Given the description of an element on the screen output the (x, y) to click on. 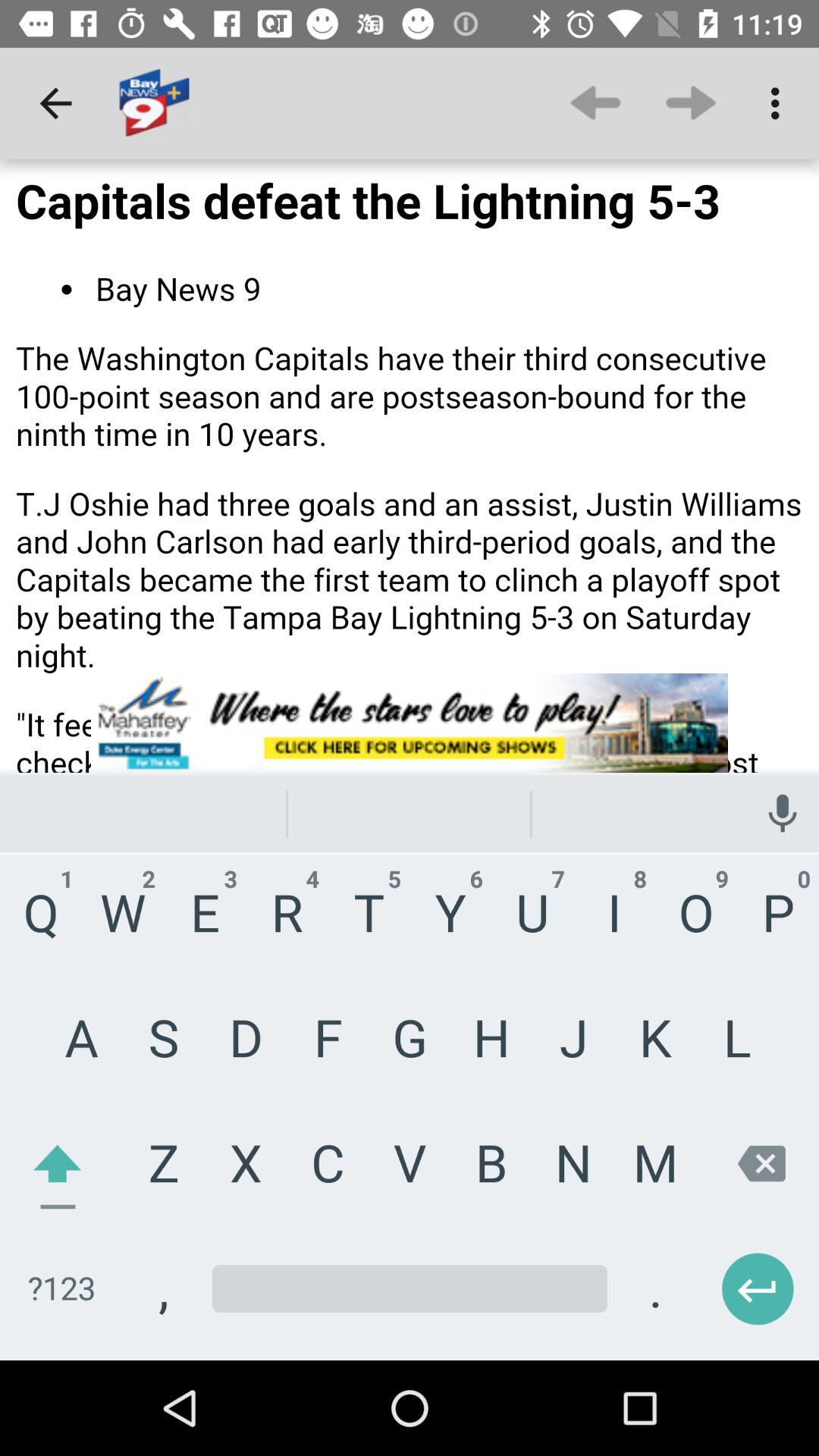
aselect the aird (409, 759)
